Given the description of an element on the screen output the (x, y) to click on. 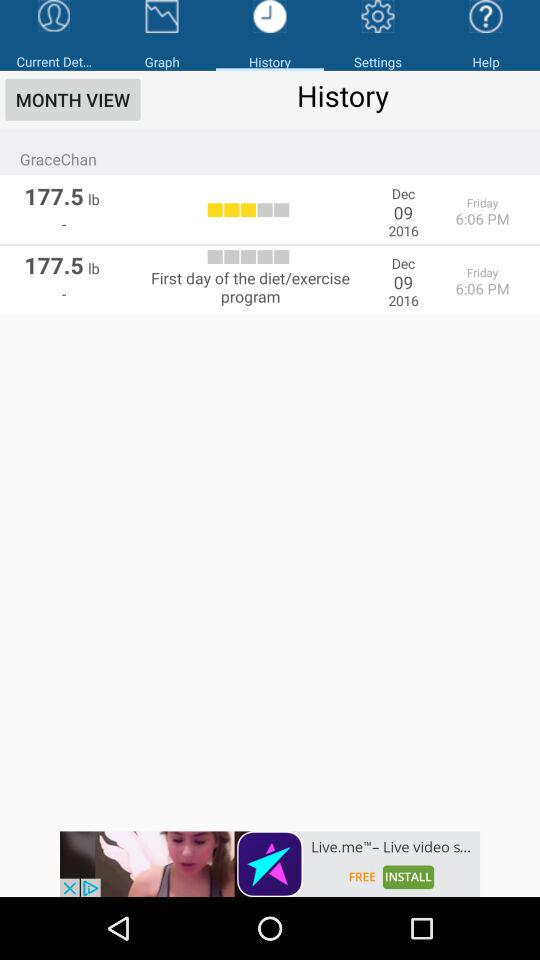
advertising link (270, 864)
